Given the description of an element on the screen output the (x, y) to click on. 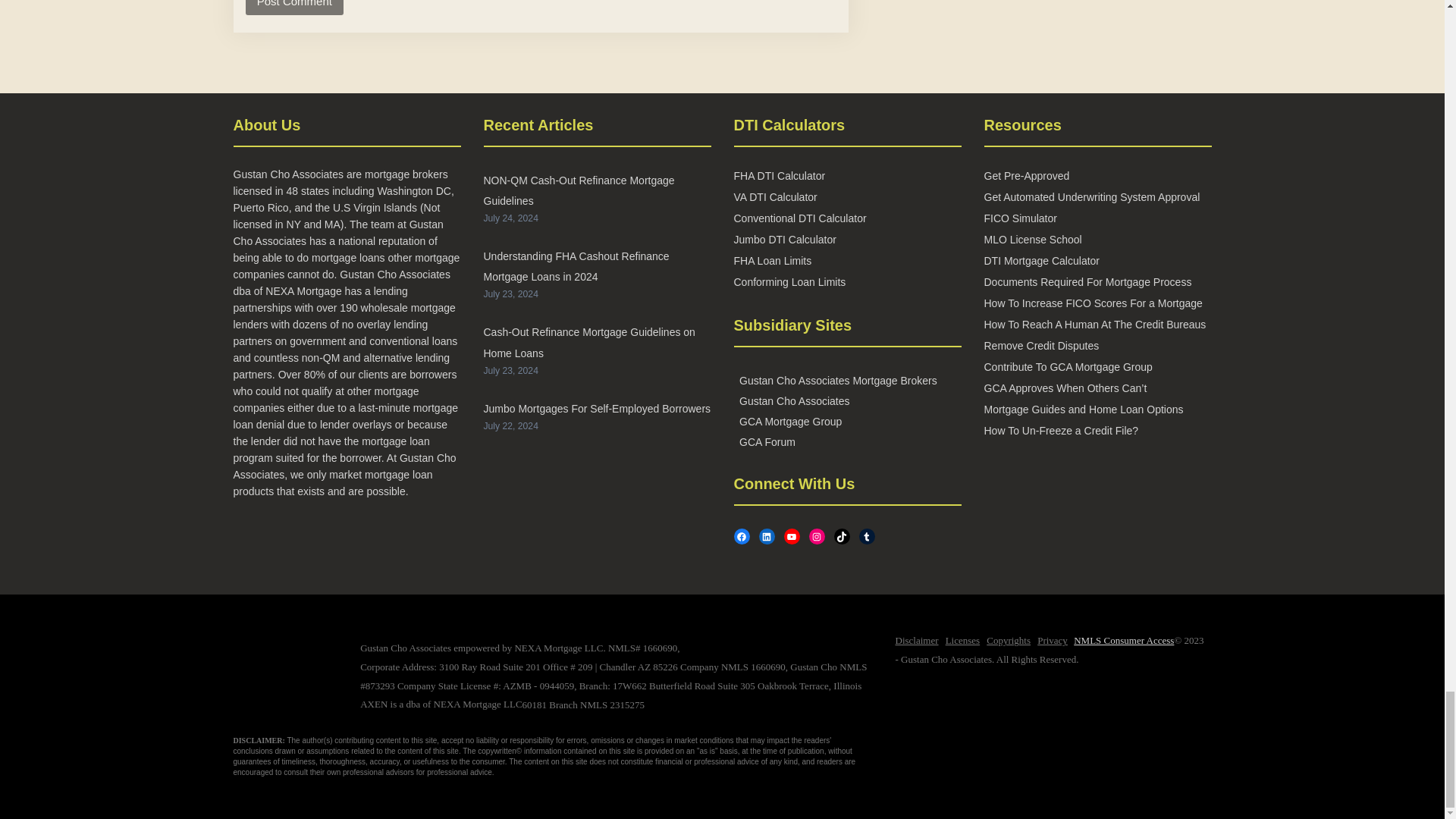
Post Comment (294, 7)
